Given the description of an element on the screen output the (x, y) to click on. 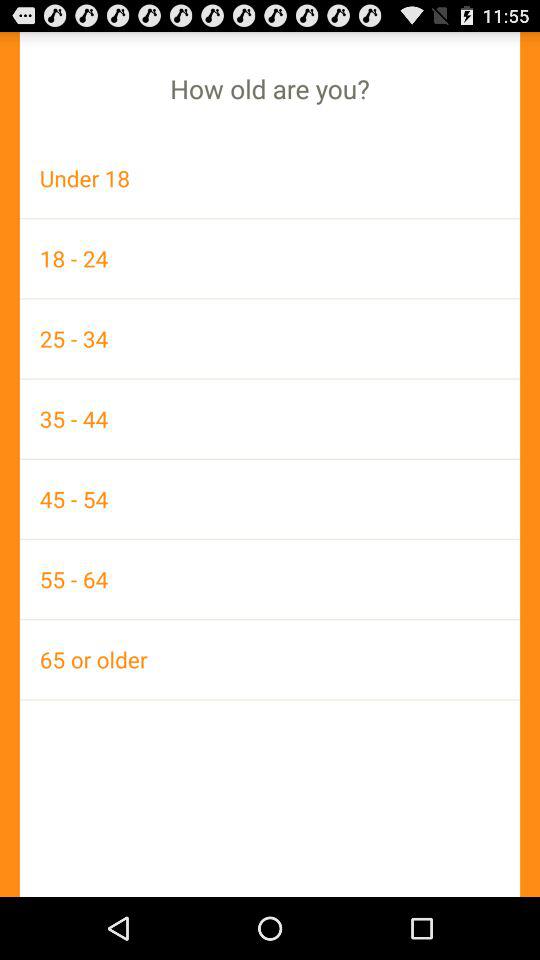
turn on under 18 app (269, 177)
